Given the description of an element on the screen output the (x, y) to click on. 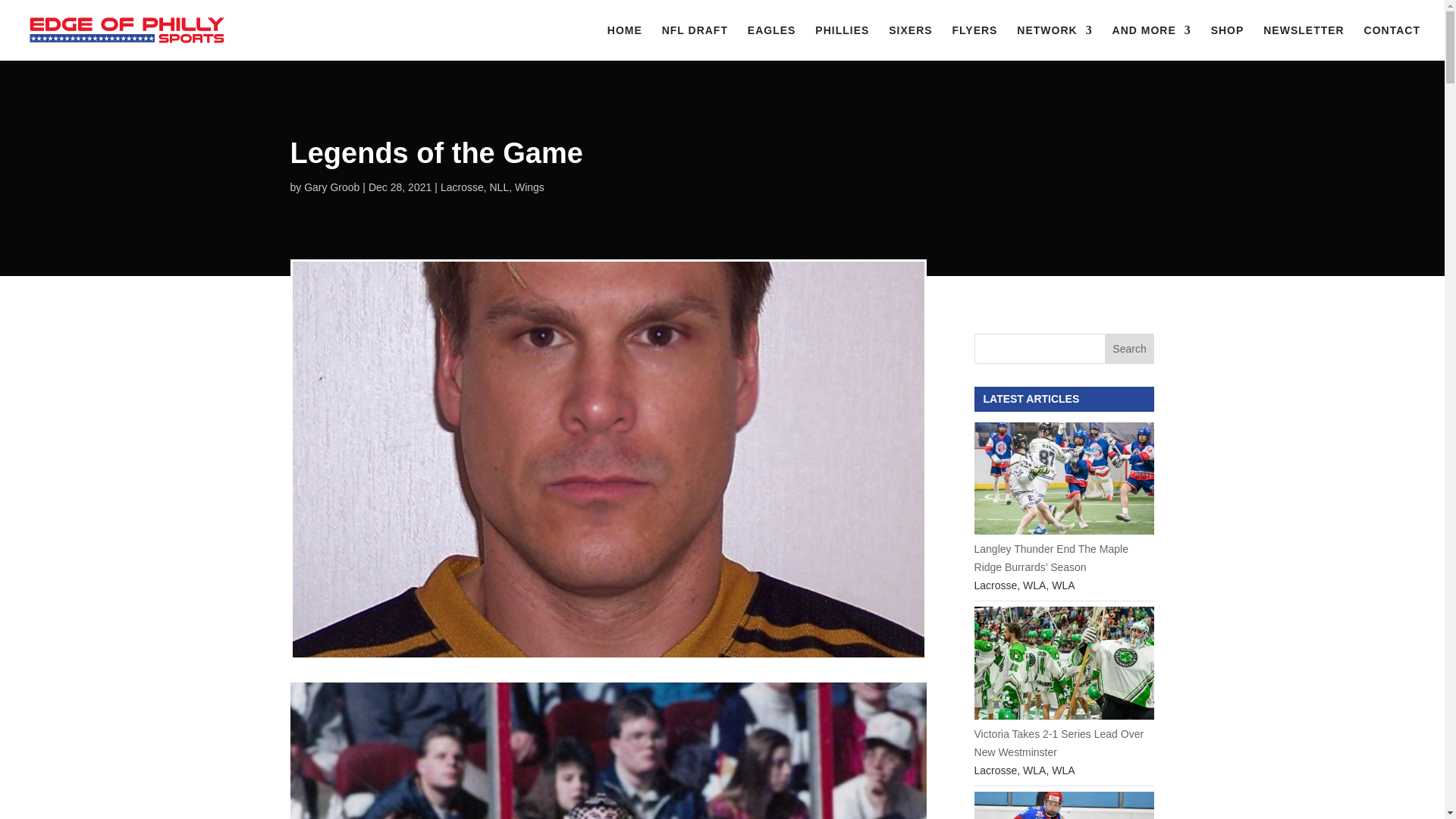
NETWORK (1054, 42)
Search (1129, 348)
FLYERS (974, 42)
SIXERS (909, 42)
AND MORE (1151, 42)
NFL DRAFT (695, 42)
Lacrosse (462, 186)
HOME (624, 42)
Posts by Gary Groob (331, 186)
SHOP (1227, 42)
